Given the description of an element on the screen output the (x, y) to click on. 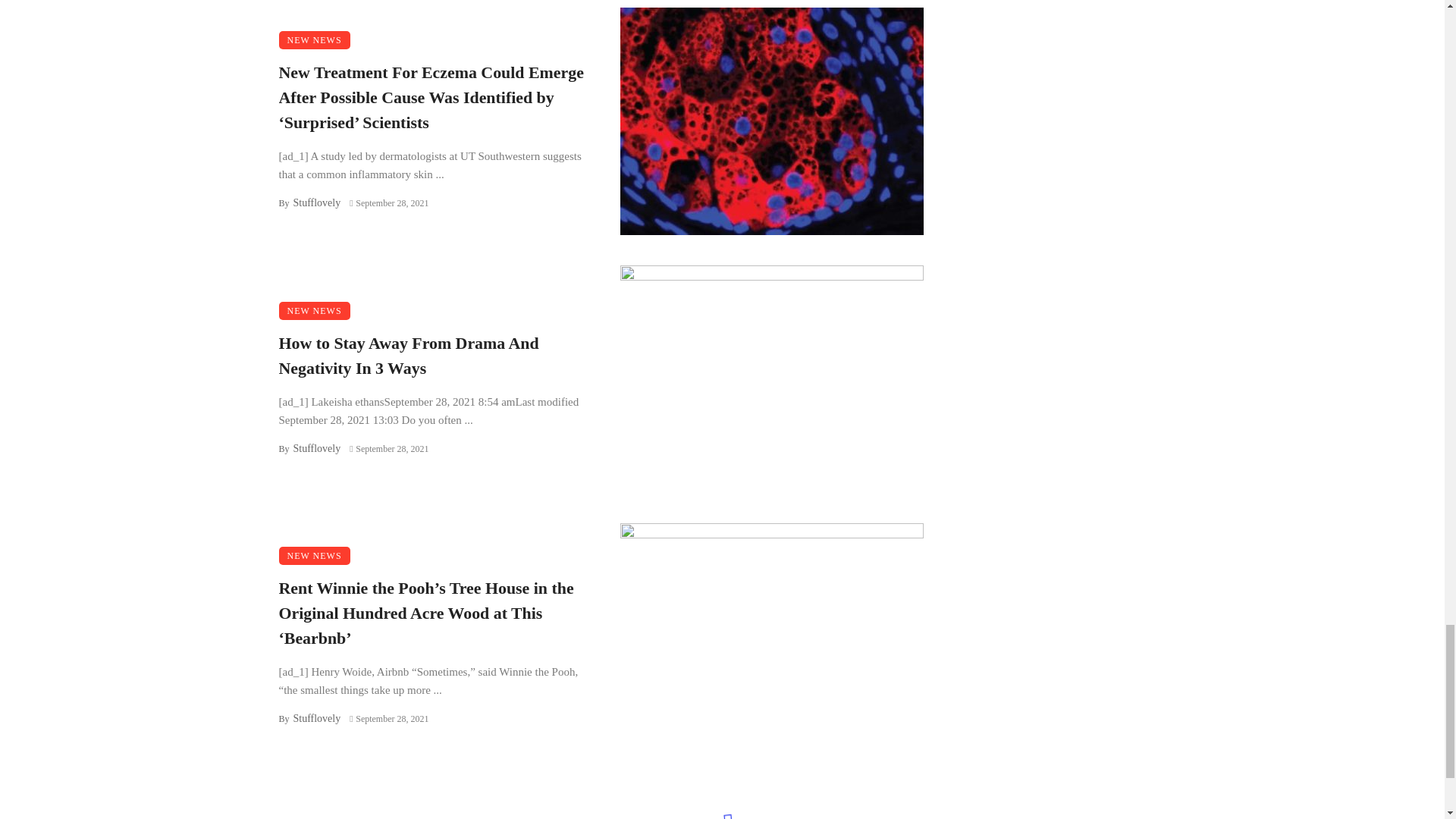
NEW NEWS (314, 40)
September 28, 2021 at 9:02 pm (388, 203)
September 28, 2021 at 8:17 pm (388, 448)
September 28, 2021 at 7:30 pm (388, 718)
